Given the description of an element on the screen output the (x, y) to click on. 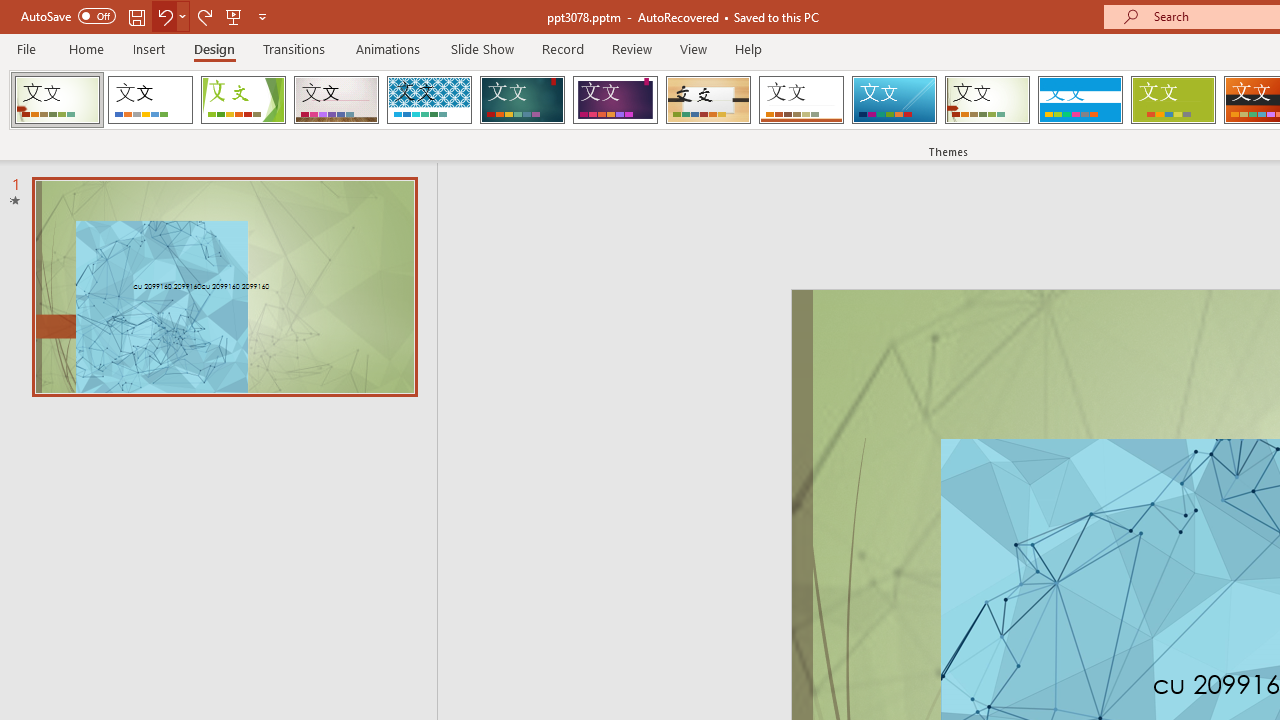
Ion Boardroom (615, 100)
Organic (708, 100)
